Given the description of an element on the screen output the (x, y) to click on. 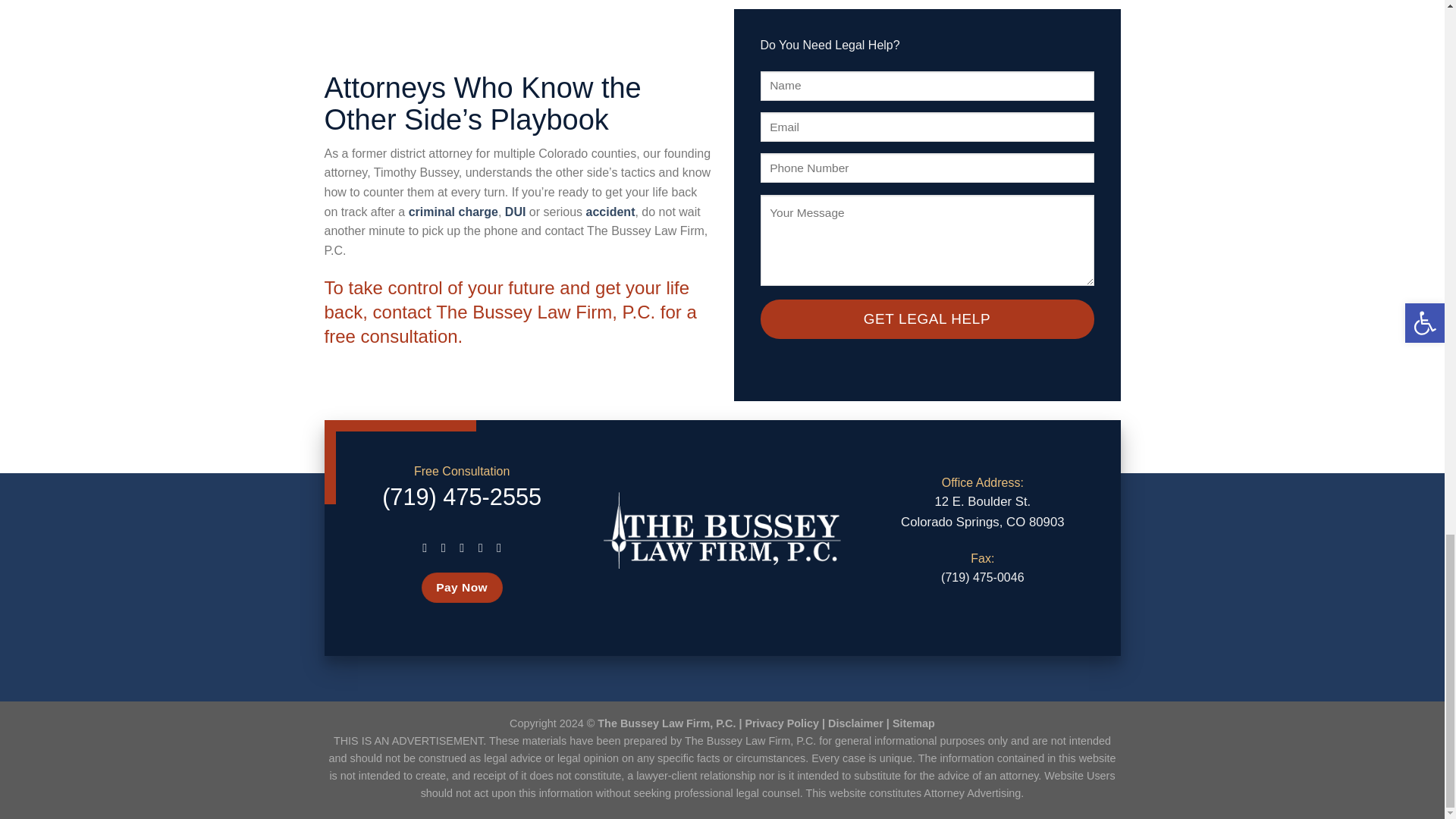
Follow on YouTube (499, 547)
Follow on Twitter (461, 547)
Follow on Instagram (443, 547)
Follow on Facebook (424, 547)
Get Legal Help (926, 319)
Follow on LinkedIn (480, 547)
